Given the description of an element on the screen output the (x, y) to click on. 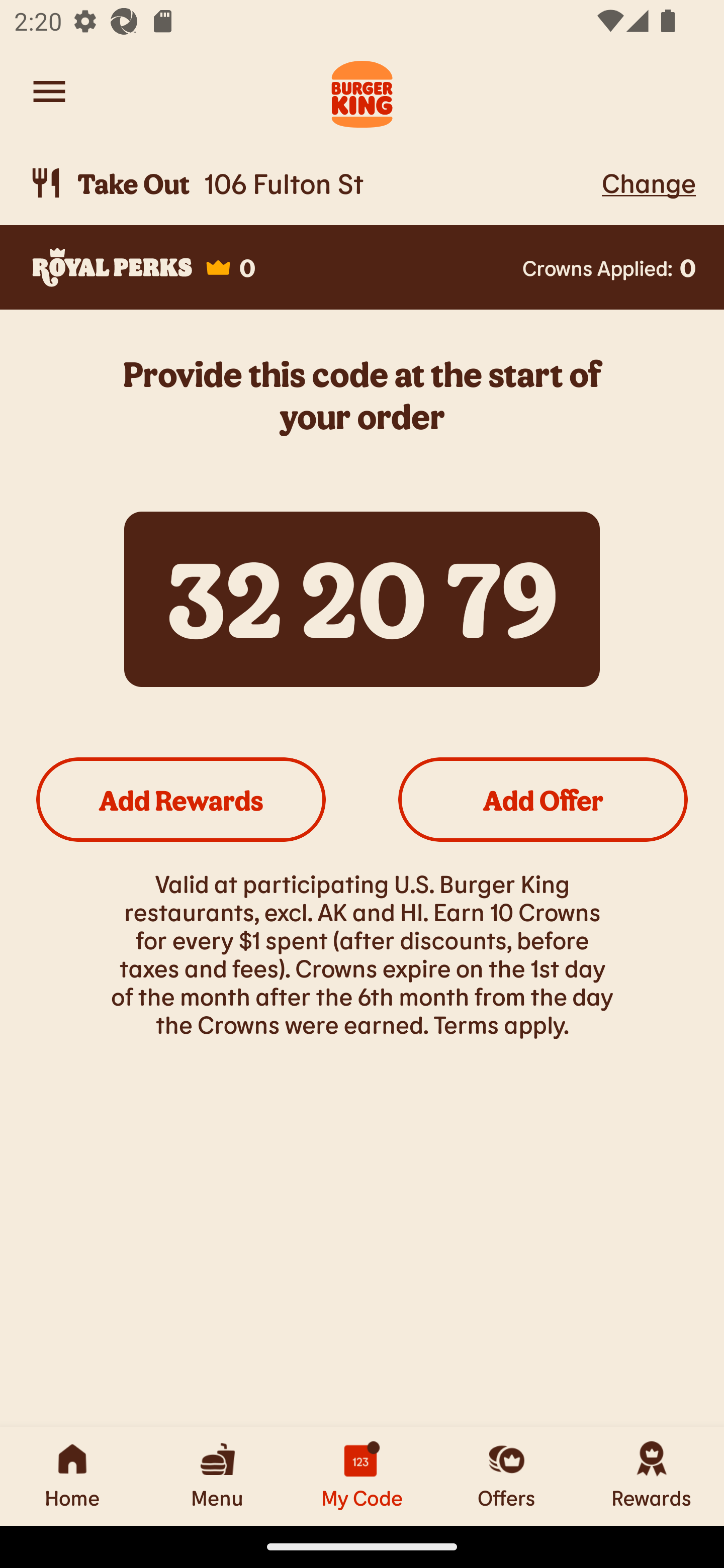
Burger King Logo. Navigate to Home (362, 91)
Navigate to account menu  (49, 91)
Take Out, 106 Fulton St  Take Out 106 Fulton St (311, 183)
Change (648, 182)
Add Rewards (180, 799)
Add Offer (542, 799)
Home (72, 1475)
Menu (216, 1475)
My Code (361, 1475)
Offers (506, 1475)
Rewards (651, 1475)
